Given the description of an element on the screen output the (x, y) to click on. 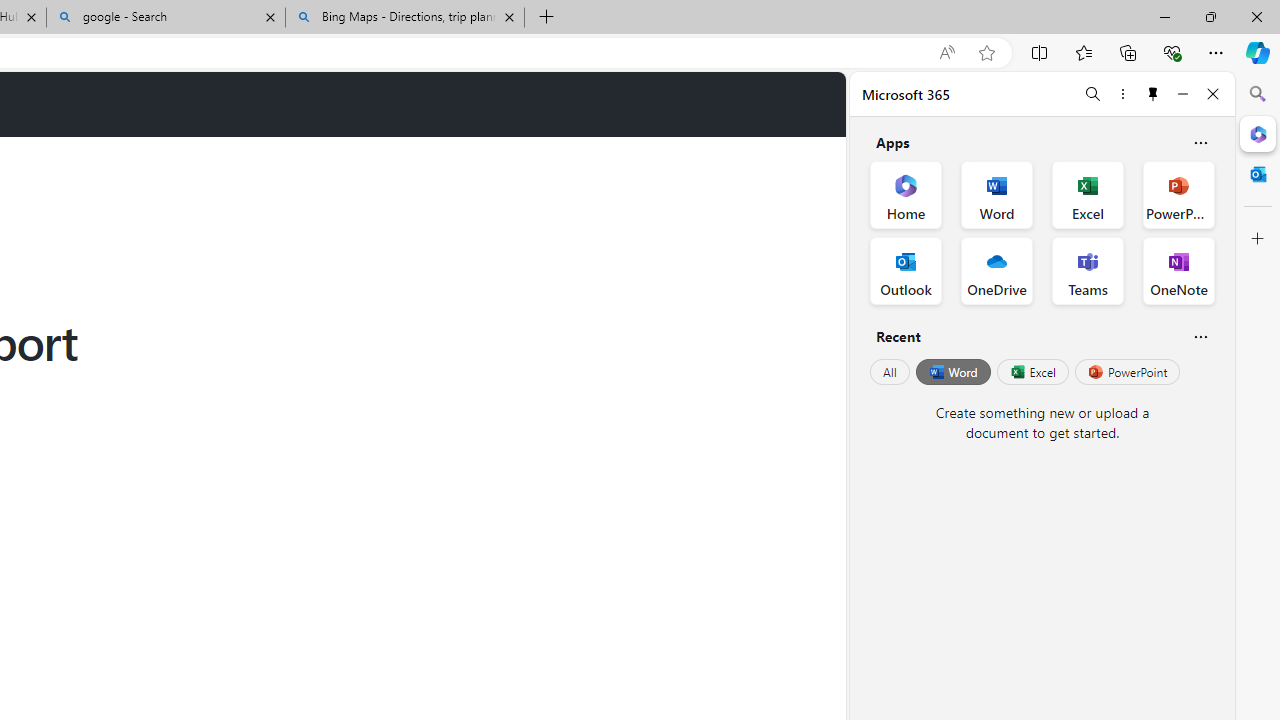
Is this helpful? (1200, 336)
Word (952, 372)
PowerPoint Office App (1178, 194)
google - Search (166, 17)
PowerPoint (1127, 372)
OneDrive Office App (996, 270)
Teams Office App (1087, 270)
Outlook Office App (906, 270)
